Given the description of an element on the screen output the (x, y) to click on. 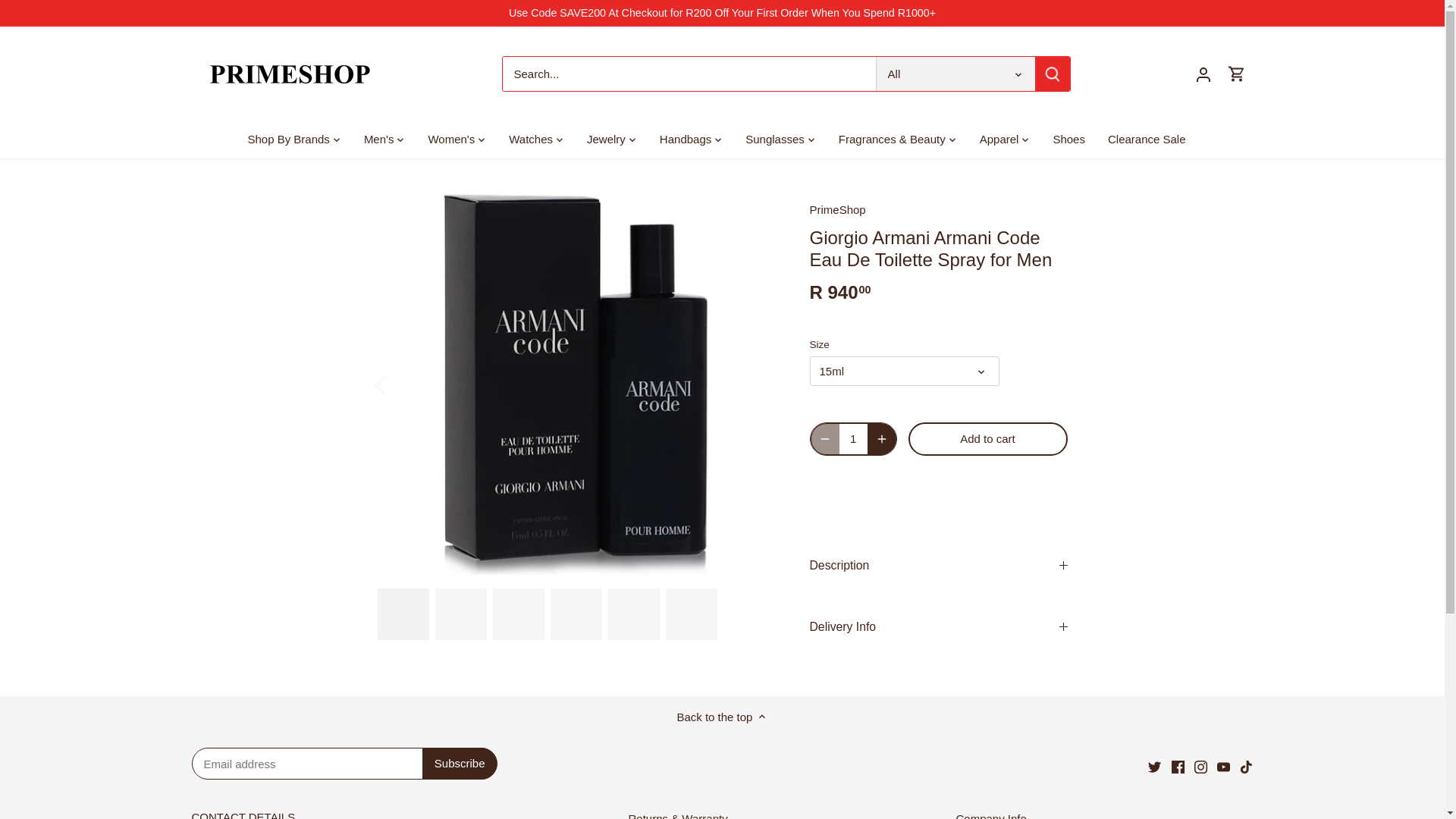
Shop By Brands (293, 139)
Twitter (1154, 766)
Men's (379, 139)
Facebook (1178, 766)
1 (852, 439)
Subscribe (459, 763)
